Given the description of an element on the screen output the (x, y) to click on. 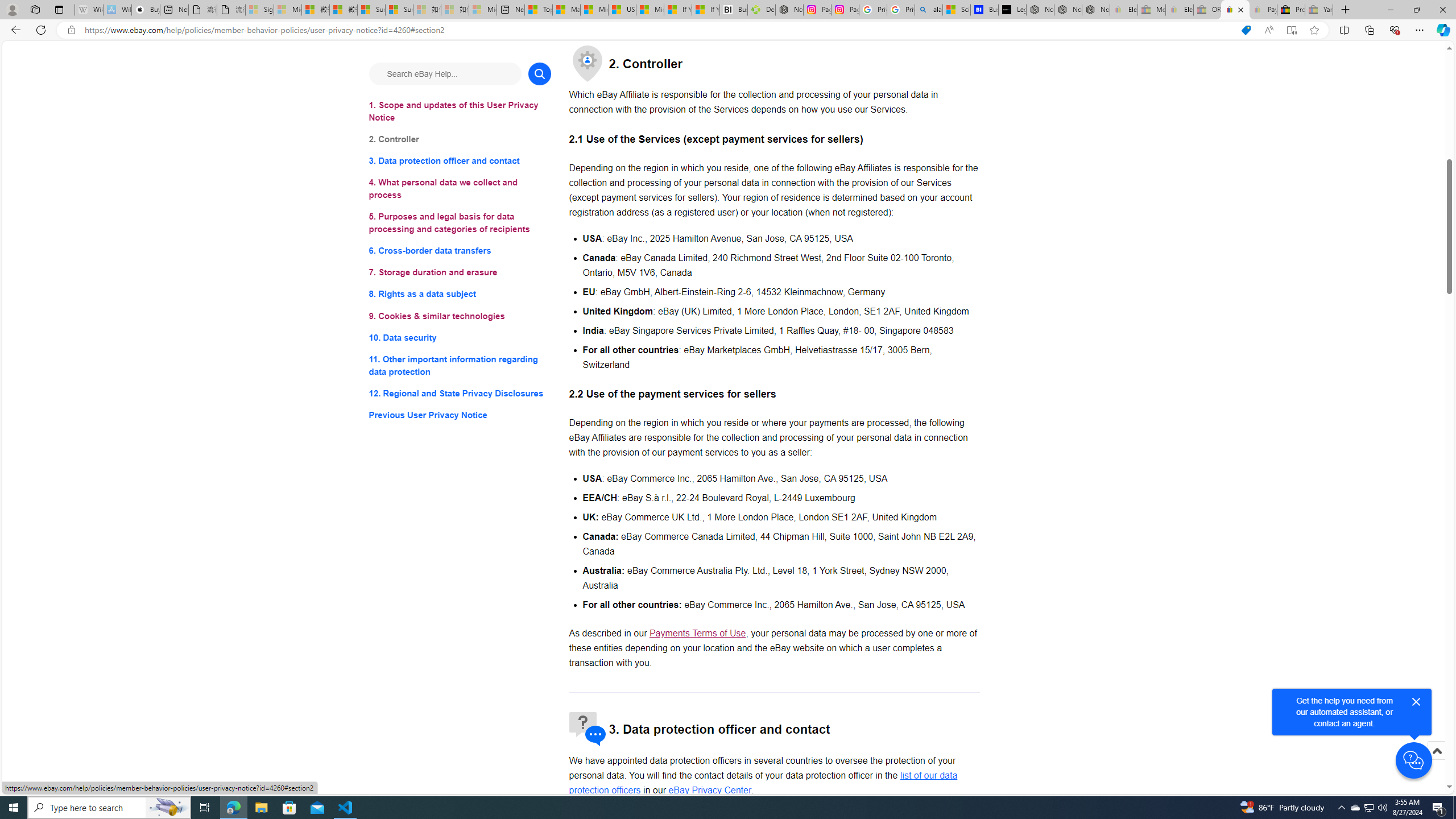
Wikipedia - Sleeping (88, 9)
Yard, Garden & Outdoor Living - Sleeping (1319, 9)
Buy iPad - Apple (145, 9)
Descarga Driver Updater (761, 9)
2. Controller (459, 138)
12. Regional and State Privacy Disclosures (459, 392)
alabama high school quarterback dies - Search (928, 9)
